Given the description of an element on the screen output the (x, y) to click on. 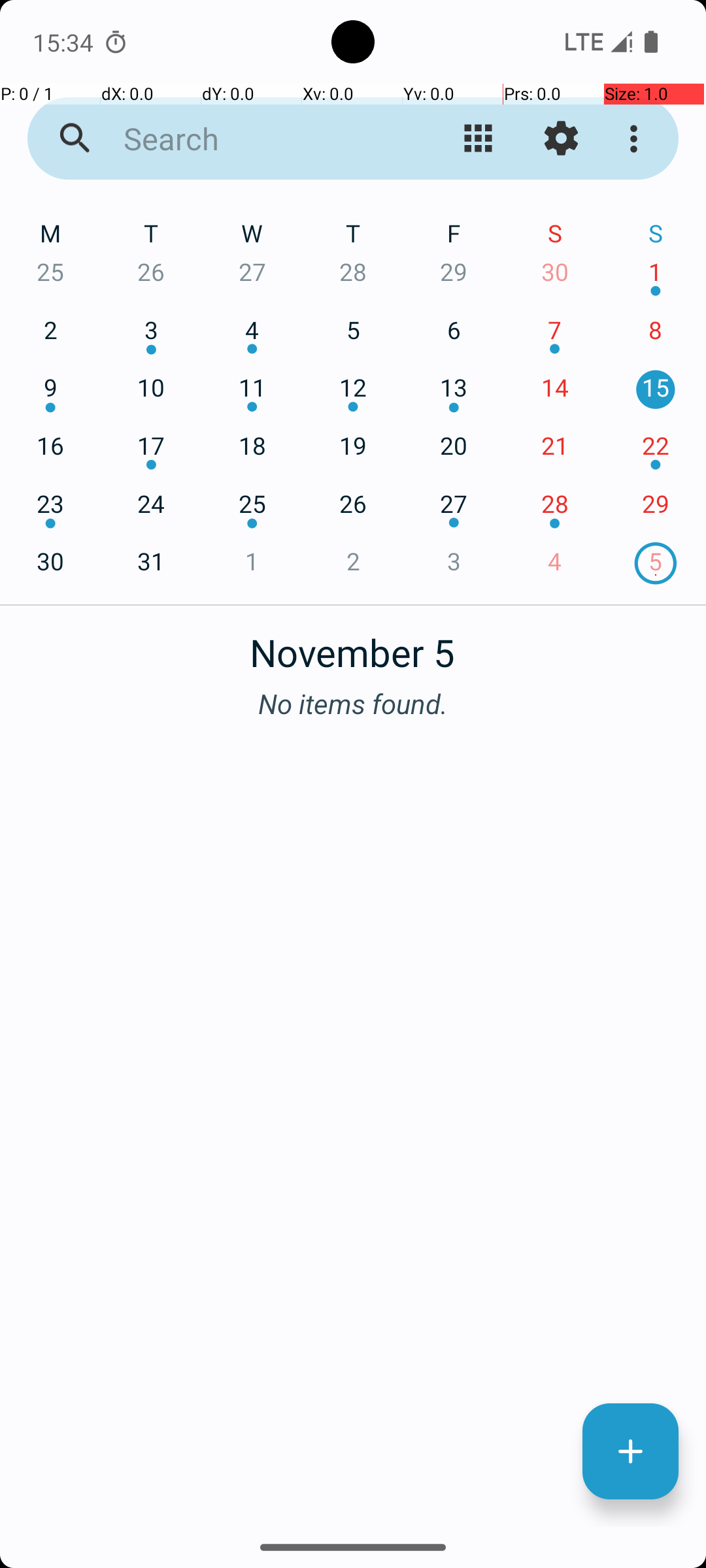
November 5 Element type: android.widget.TextView (352, 644)
